Given the description of an element on the screen output the (x, y) to click on. 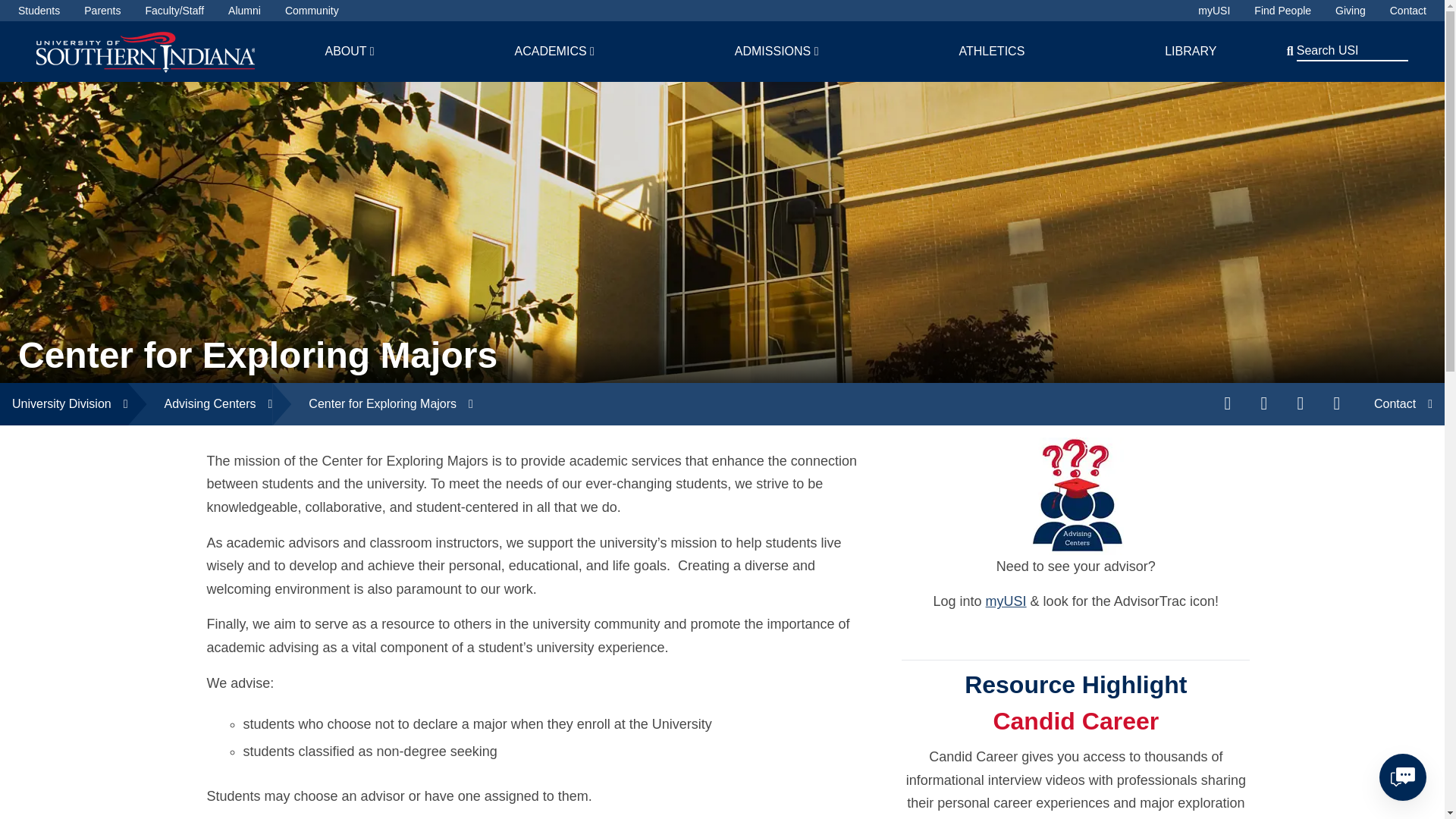
Contact (1408, 10)
Students (38, 10)
Parents (102, 10)
Advising Centers (200, 404)
University of Southern Indiana (145, 50)
Giving (1350, 10)
myUSI (1214, 10)
Find People (1282, 10)
Alumni (244, 10)
Community (312, 10)
University Division (64, 404)
